Given the description of an element on the screen output the (x, y) to click on. 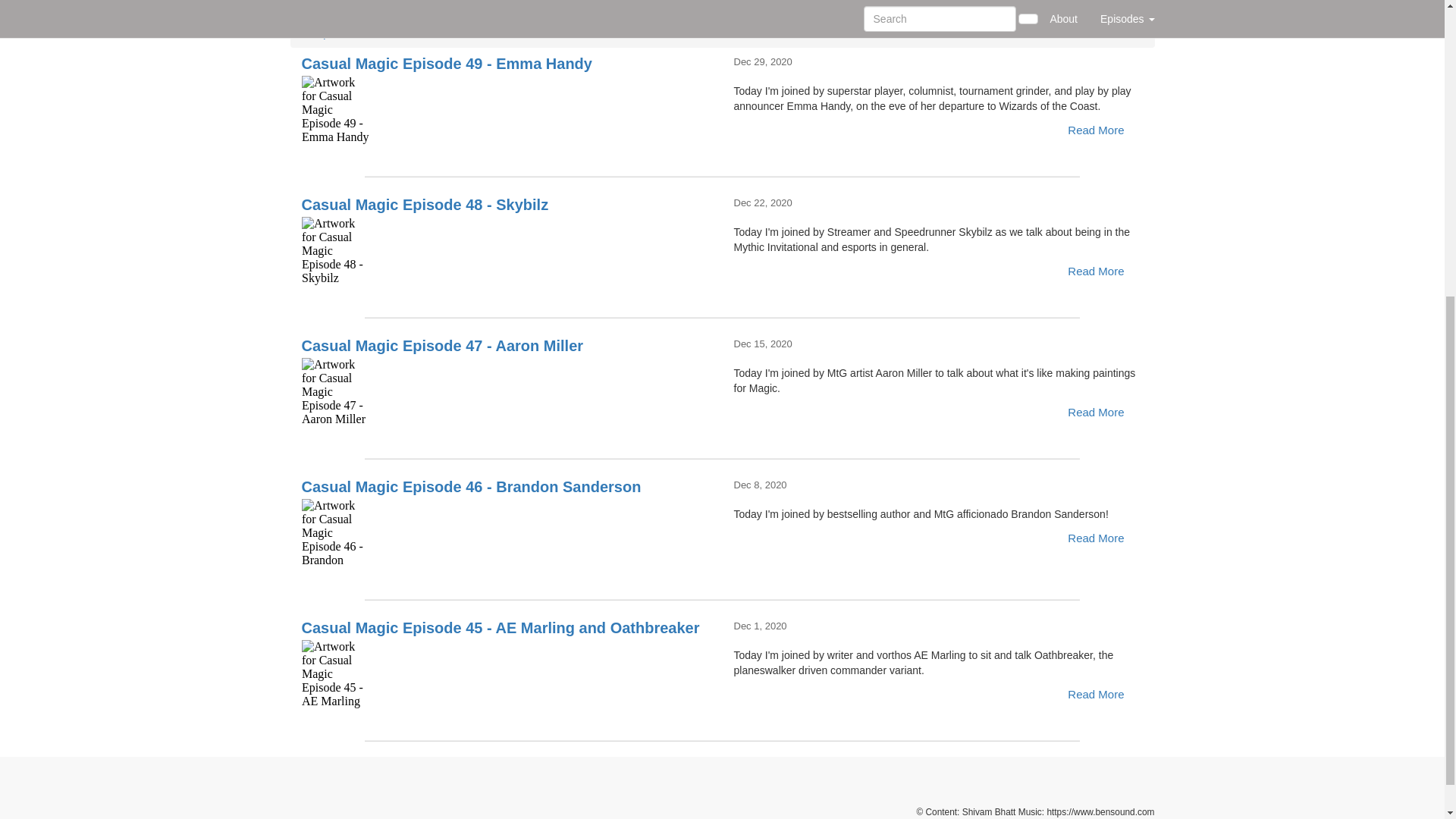
Casual Magic Episode 46 - Brandon Sanderson (506, 532)
Casual Magic Episode 48 - Skybilz (506, 251)
Casual Magic Episode 45 - AE Marling and Oathbreaker (506, 673)
Casual Magic Episode 47 - Aaron Miller (506, 391)
Casual Magic Episode 49 - Emma Handy (506, 110)
